Given the description of an element on the screen output the (x, y) to click on. 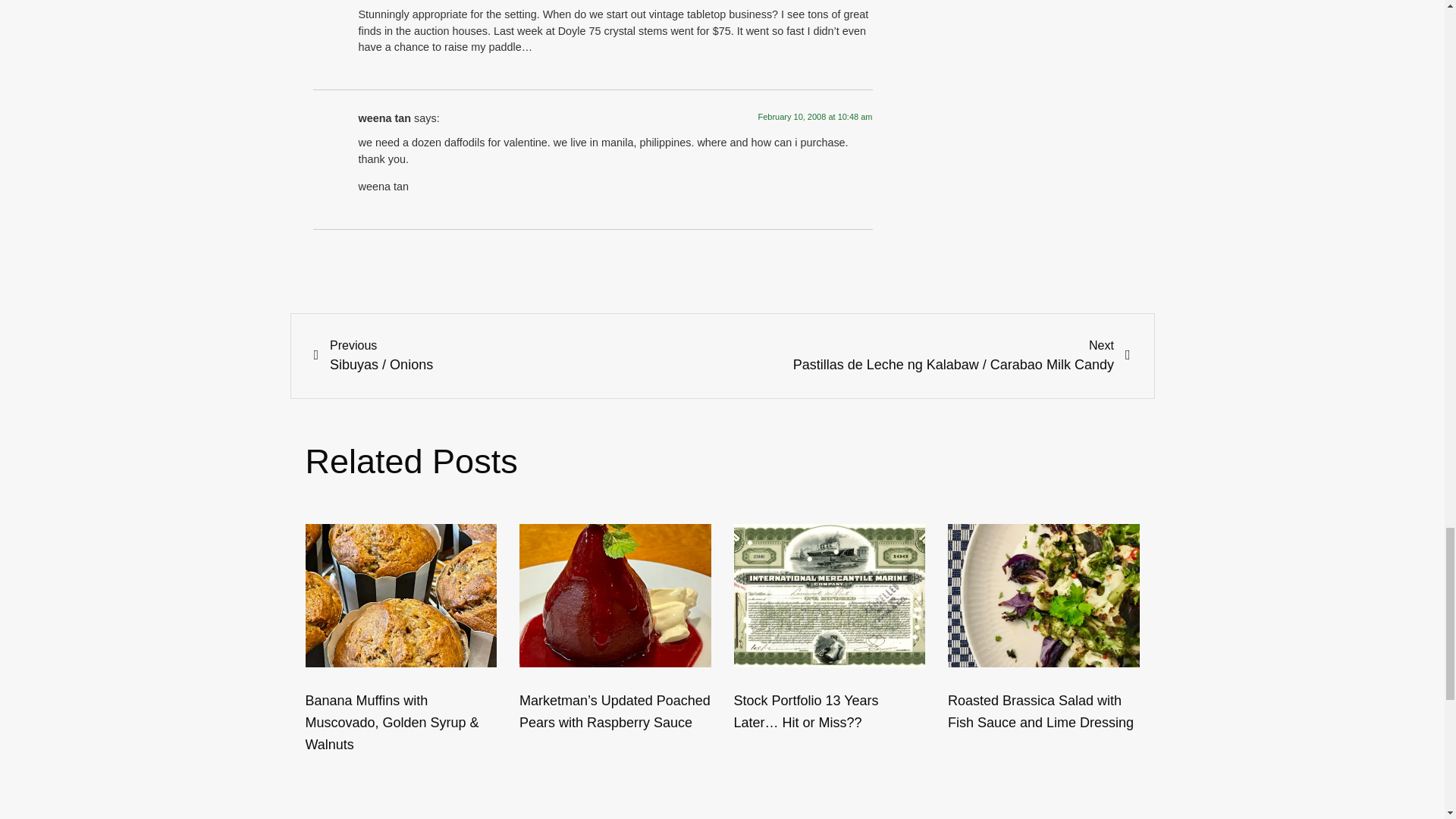
February 10, 2008 at 10:48 am (814, 116)
